Given the description of an element on the screen output the (x, y) to click on. 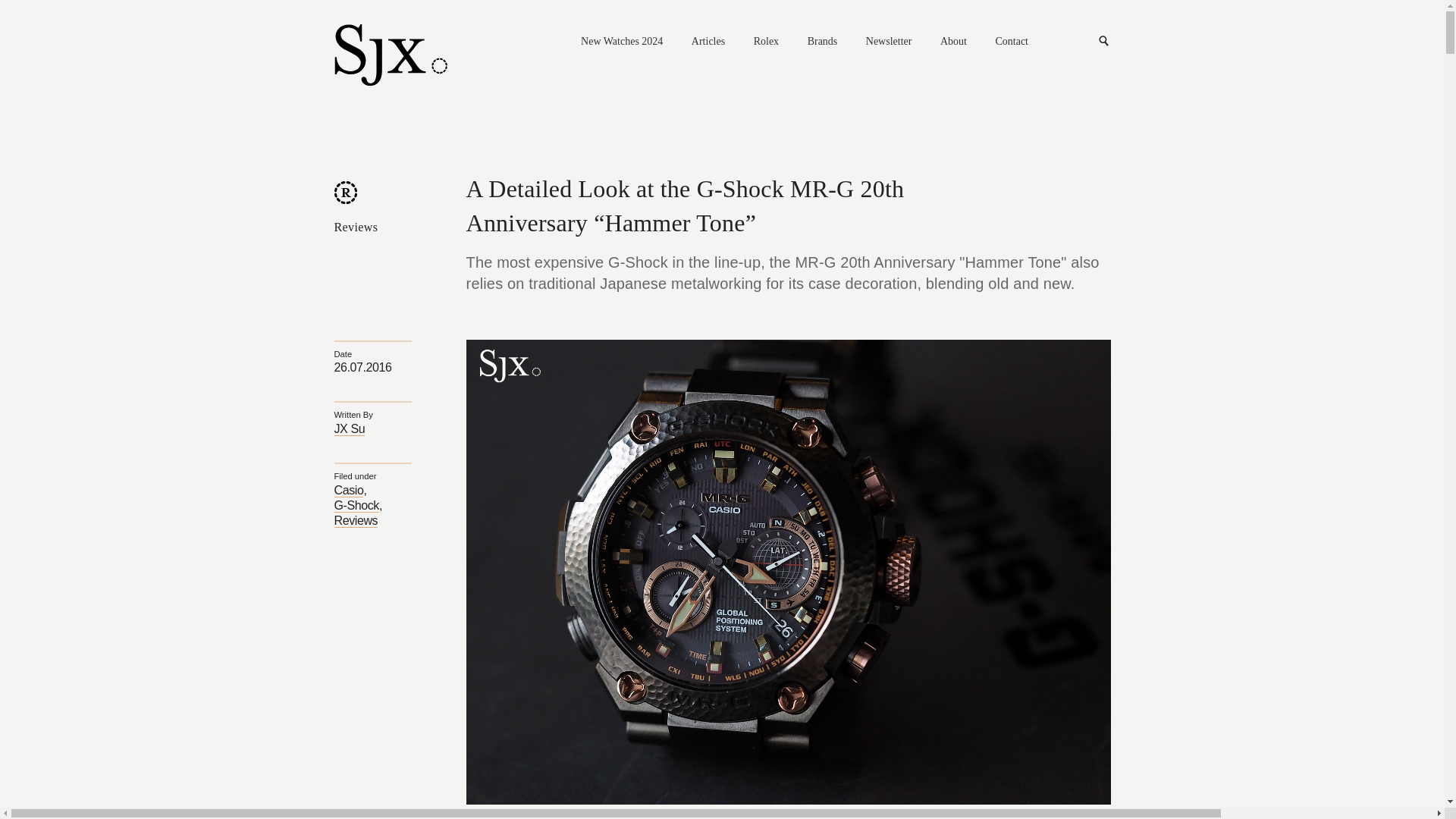
Brands (823, 42)
Search (1103, 40)
About (953, 42)
Posts by JX Su (349, 428)
Newsletter (889, 42)
Articles (708, 42)
New Watches 2024 (621, 42)
Contact (1010, 42)
Rolex (766, 42)
